Given the description of an element on the screen output the (x, y) to click on. 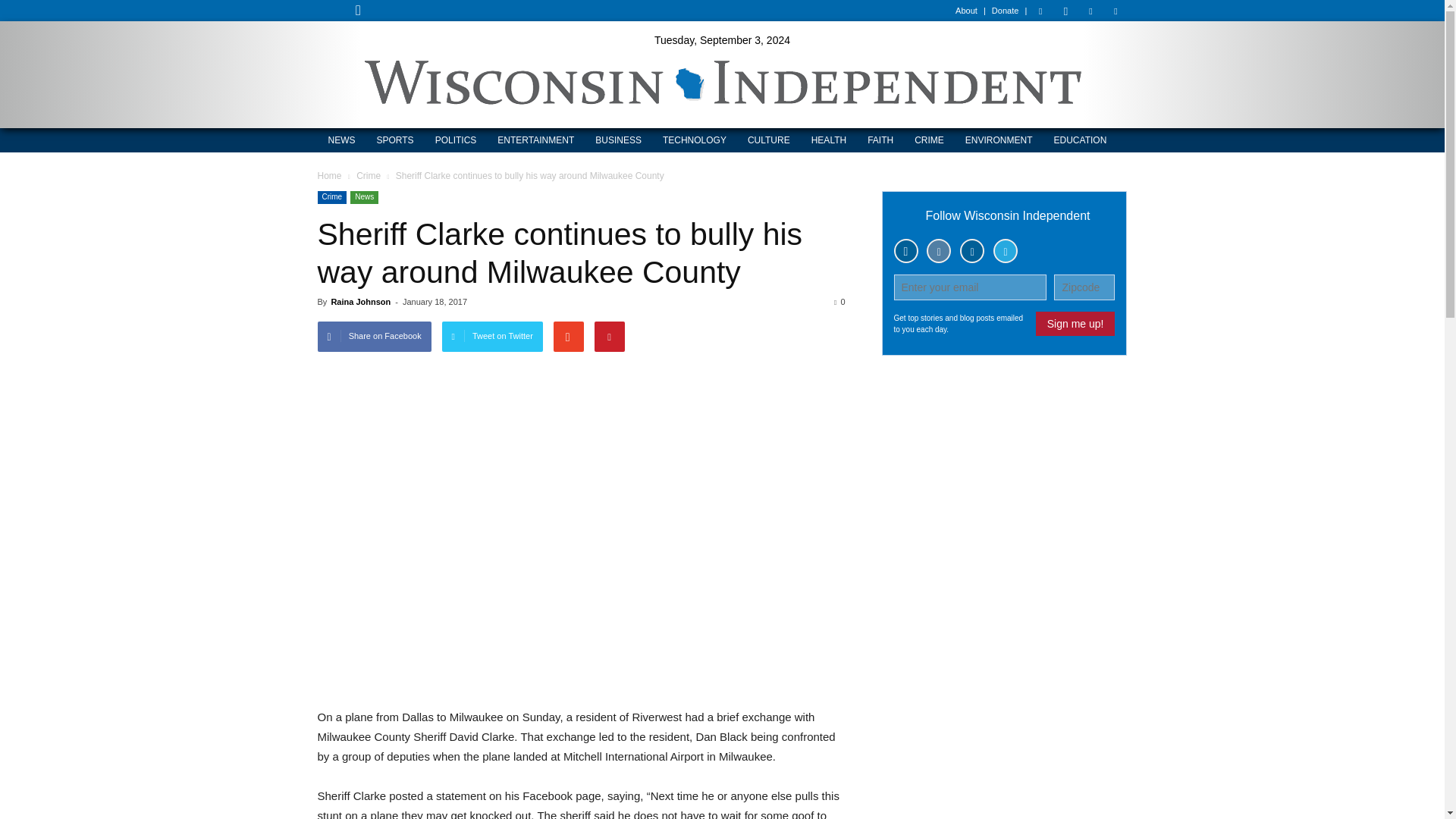
Twitter (1114, 10)
Instagram (1065, 10)
About (965, 10)
Facebook (1040, 10)
View all posts in Crime (369, 175)
NEWS (341, 139)
Search (533, 72)
Donate (1004, 10)
Linkedin (1090, 10)
Sign me up! (1075, 323)
